Given the description of an element on the screen output the (x, y) to click on. 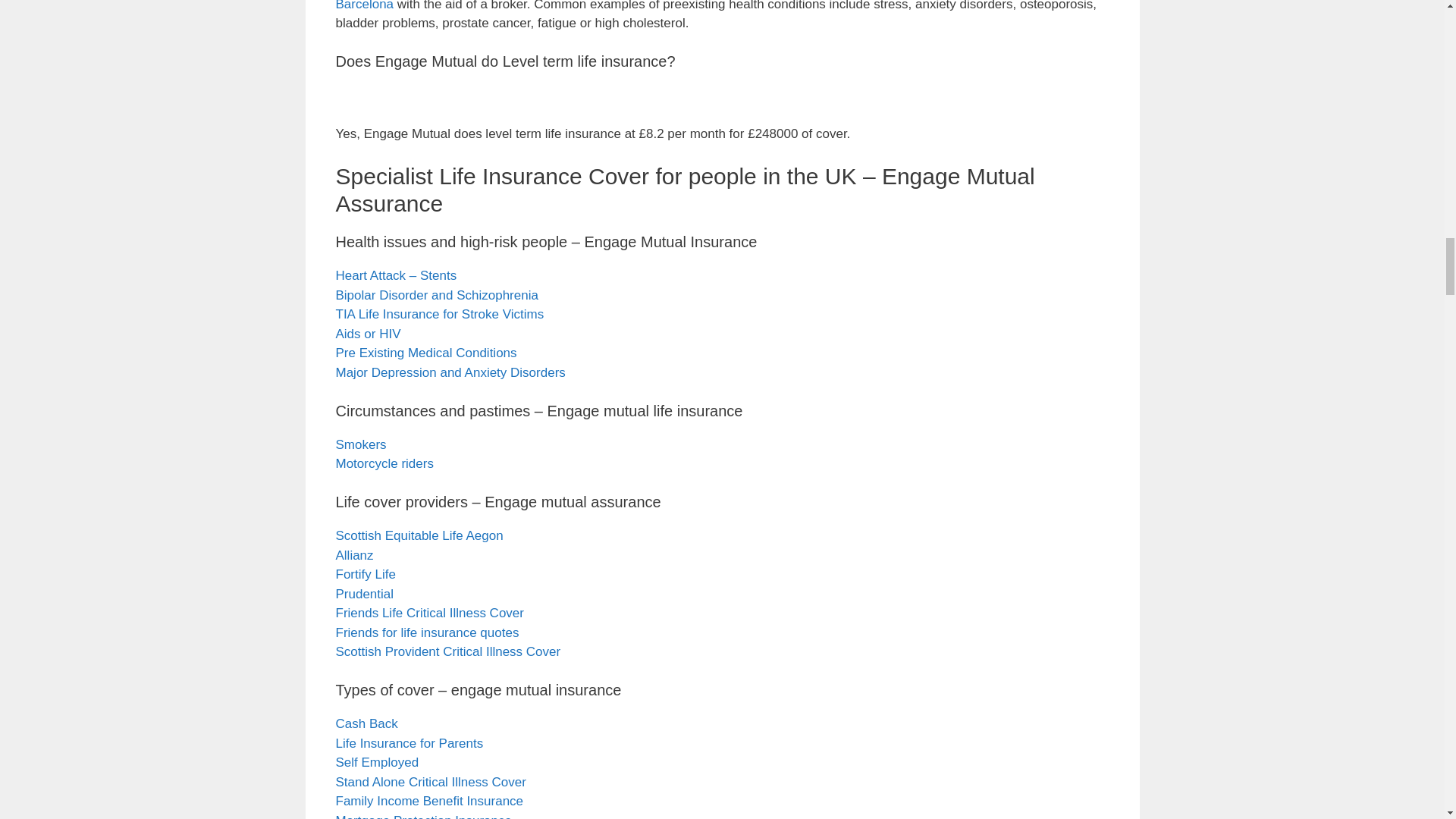
Mortgage Protection Insurance (422, 816)
Stand Alone Critical Illness Cover (429, 781)
Friends for life insurance quotes (426, 632)
Fortify Life (364, 574)
Pre Existing Medical Conditions (425, 352)
Friends Life Critical Illness Cover (428, 612)
Family Income Benefit Insurance (428, 800)
Scottish Provident Critical Illness Cover (447, 651)
Prudential (363, 594)
Self Employed (376, 762)
